Given the description of an element on the screen output the (x, y) to click on. 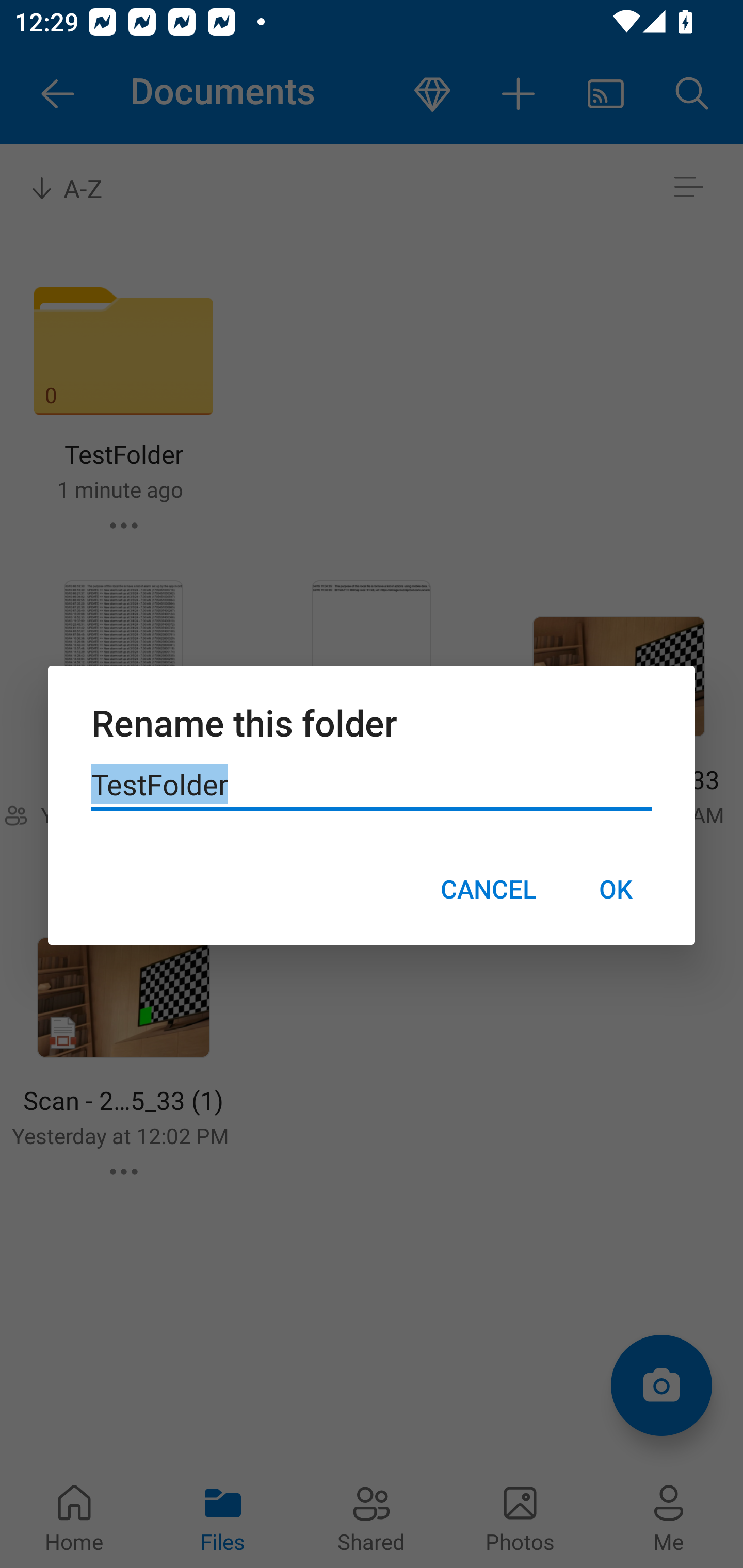
TestFolder (371, 784)
CANCEL (488, 888)
OK (615, 888)
